Given the description of an element on the screen output the (x, y) to click on. 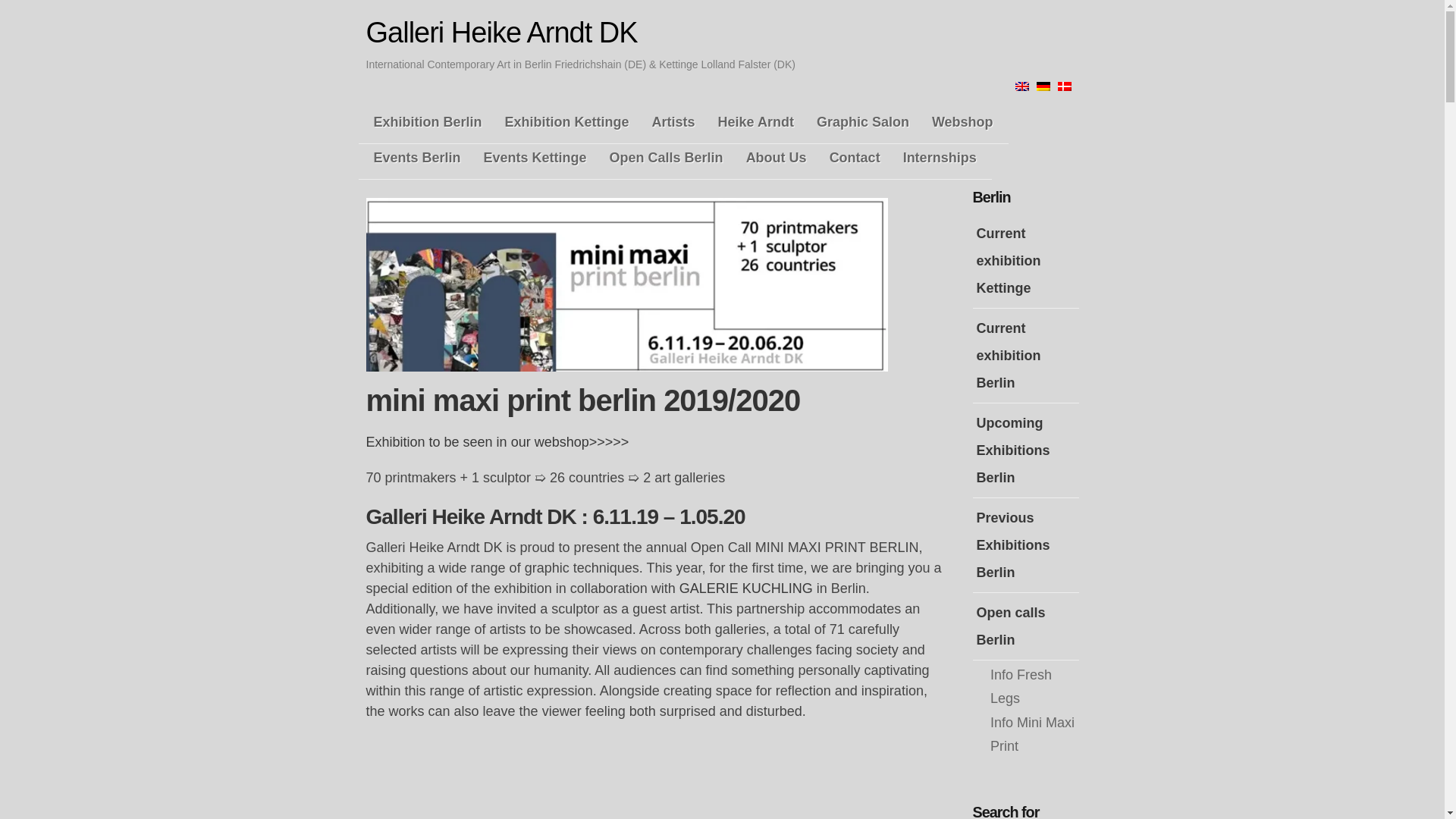
About Us (776, 157)
Heike Arndt (756, 122)
Events Berlin (417, 157)
Open Calls Berlin (666, 157)
Exhibition Kettinge (567, 122)
Exhibition Berlin (427, 122)
Internships (939, 157)
GALERIE KUCHLING (745, 588)
Contact (854, 157)
Events Kettinge (535, 157)
